Given the description of an element on the screen output the (x, y) to click on. 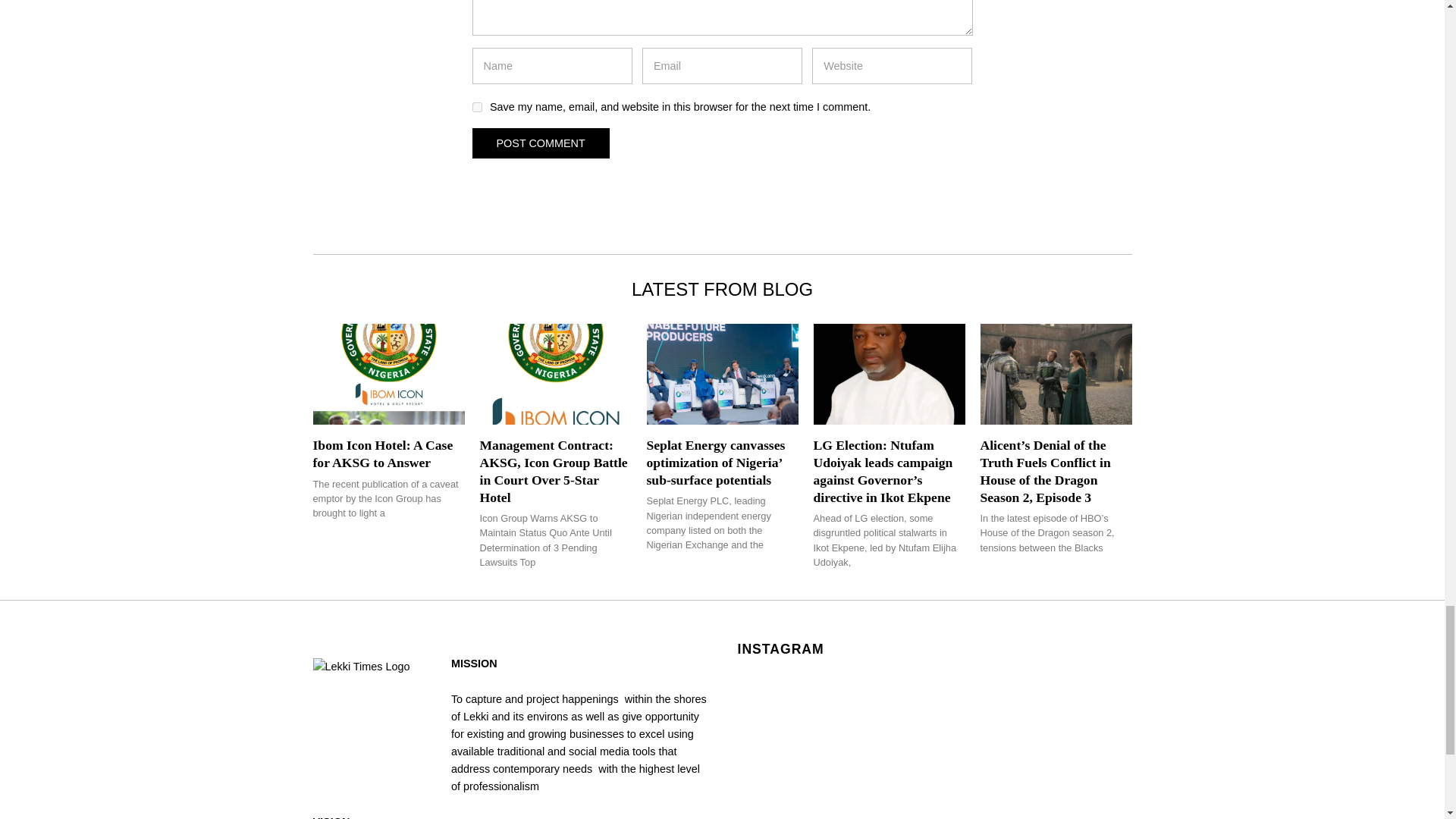
Post Comment (539, 142)
yes (476, 107)
